Given the description of an element on the screen output the (x, y) to click on. 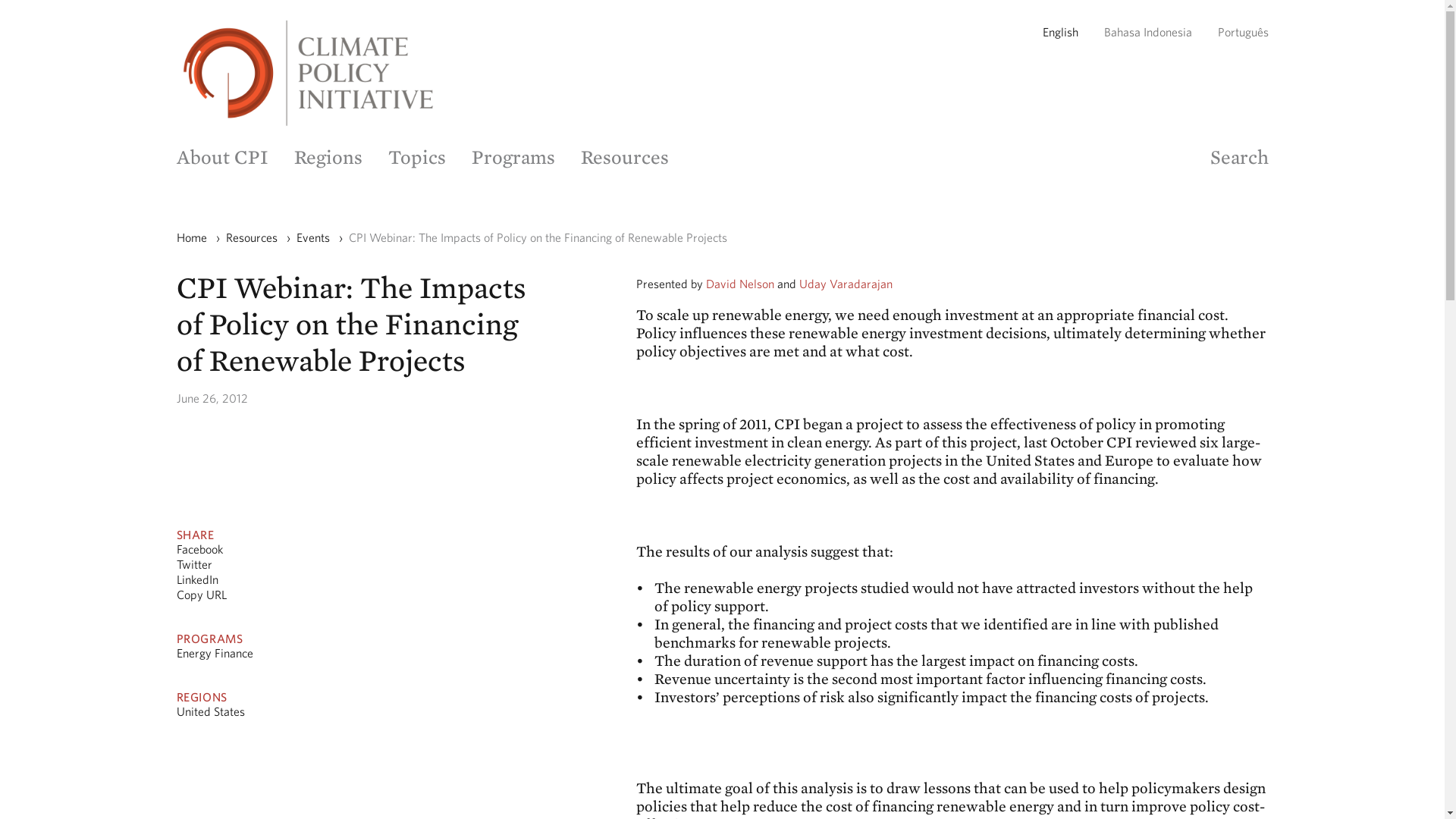
Bahasa Indonesia (1147, 31)
English (1059, 31)
